Given the description of an element on the screen output the (x, y) to click on. 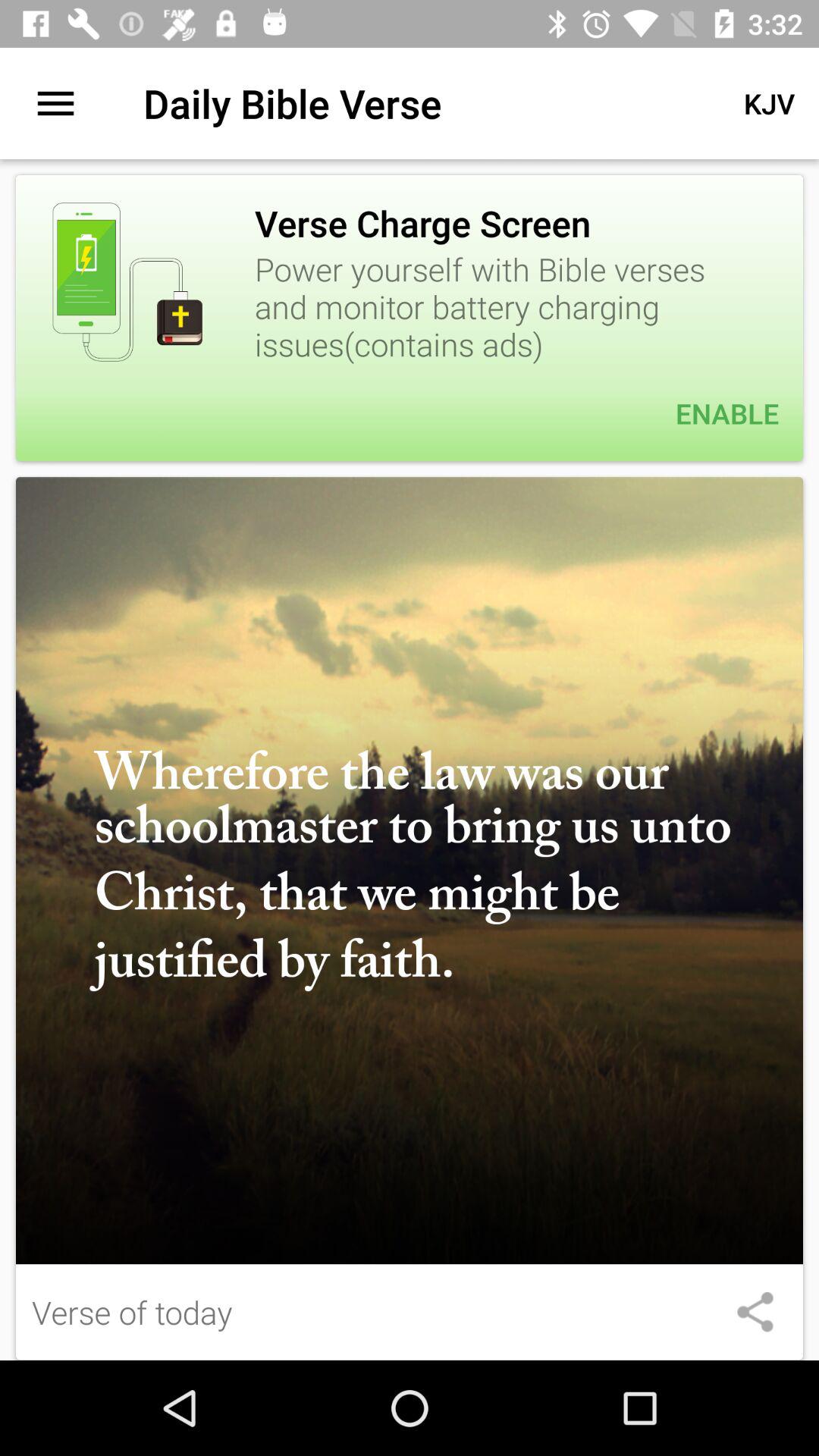
swipe to enable item (409, 413)
